Given the description of an element on the screen output the (x, y) to click on. 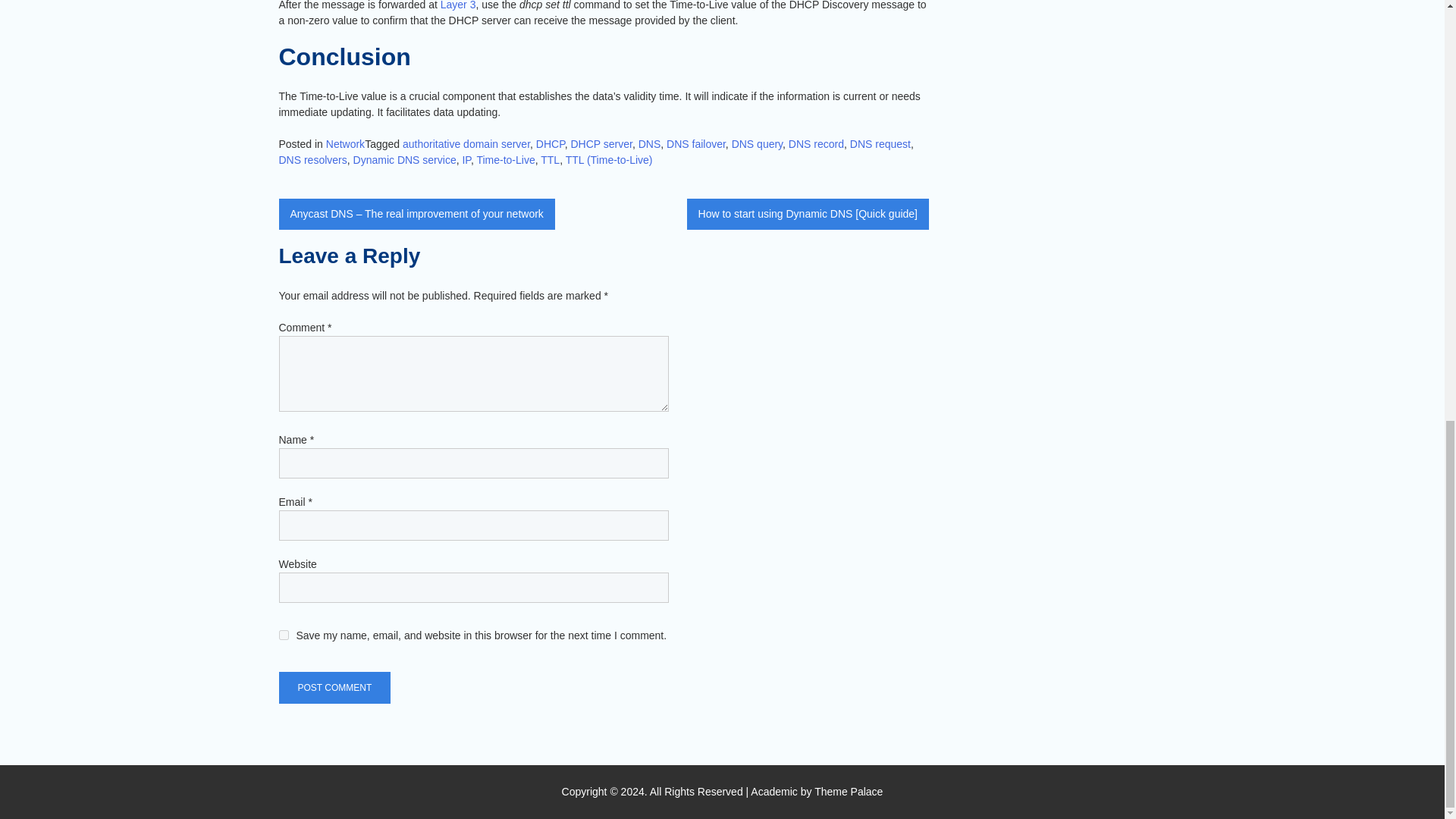
Time-to-Live (505, 159)
DHCP (549, 143)
Post Comment (335, 687)
Dynamic DNS service (405, 159)
Layer 3 (458, 5)
TTL (549, 159)
Post Comment (335, 687)
DHCP server (600, 143)
DNS (650, 143)
yes (283, 634)
